Given the description of an element on the screen output the (x, y) to click on. 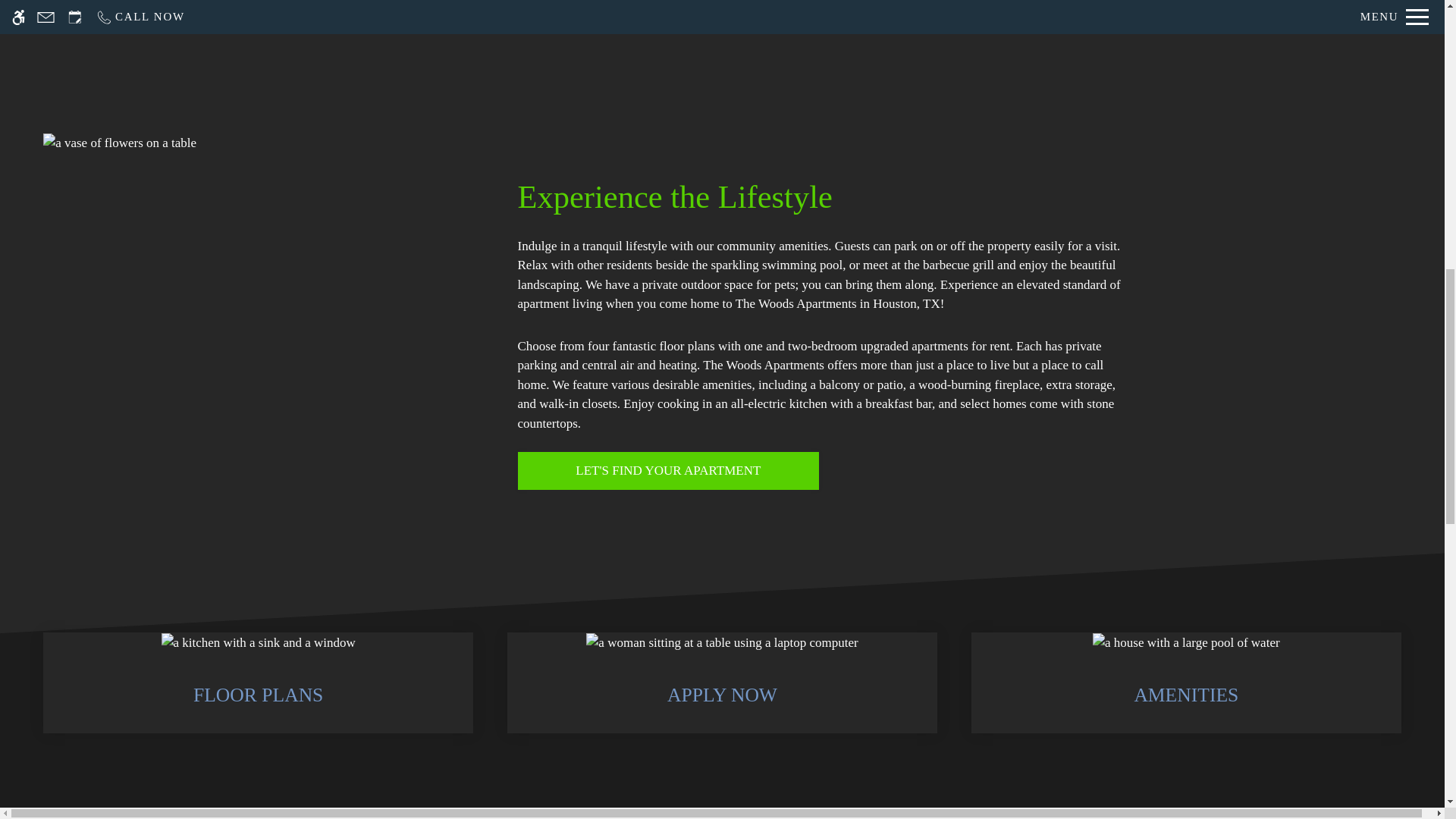
FLOOR PLANS (258, 682)
LET'S FIND YOUR APARTMENT (667, 470)
APPLY NOW (721, 682)
View Floor Plans (667, 470)
AMENITIES (1185, 682)
